Given the description of an element on the screen output the (x, y) to click on. 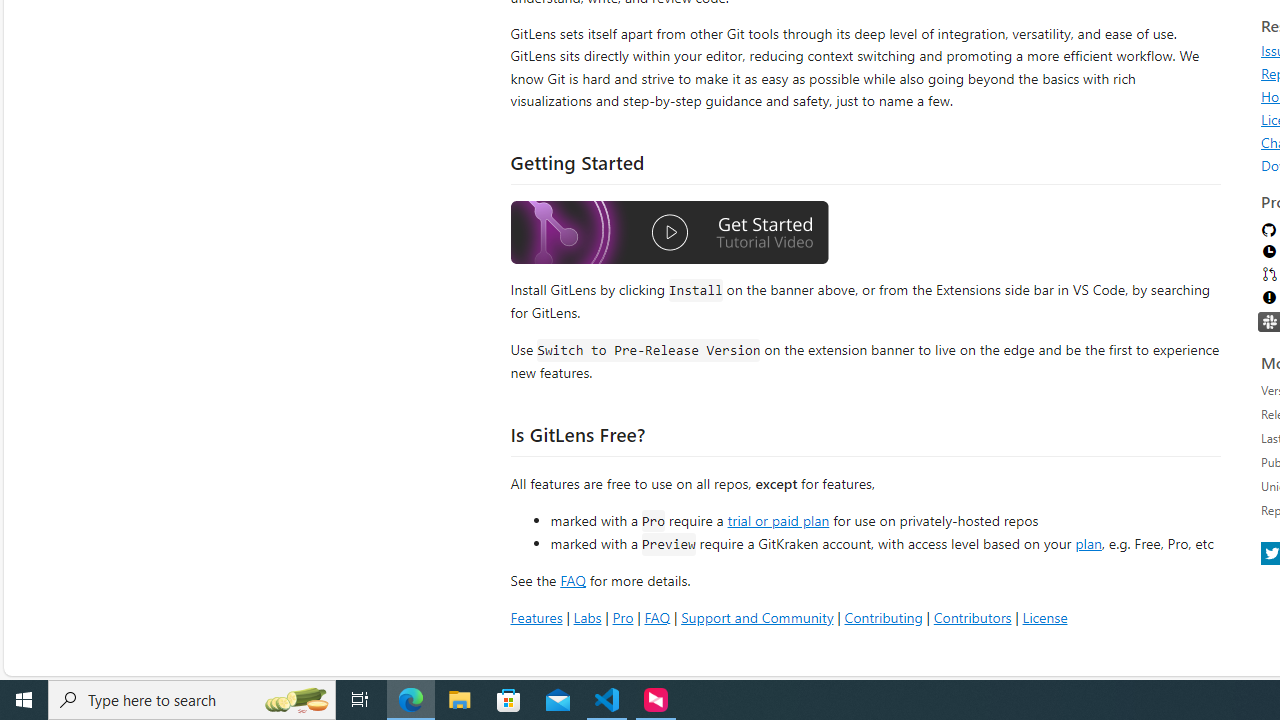
Support and Community (757, 616)
FAQ (656, 616)
Contributors (972, 616)
Watch the GitLens Getting Started video (669, 232)
Contributing (882, 616)
License (1044, 616)
Labs (587, 616)
trial or paid plan (778, 519)
Pro (622, 616)
Features (536, 616)
Watch the GitLens Getting Started video (669, 235)
plan (1088, 543)
